Given the description of an element on the screen output the (x, y) to click on. 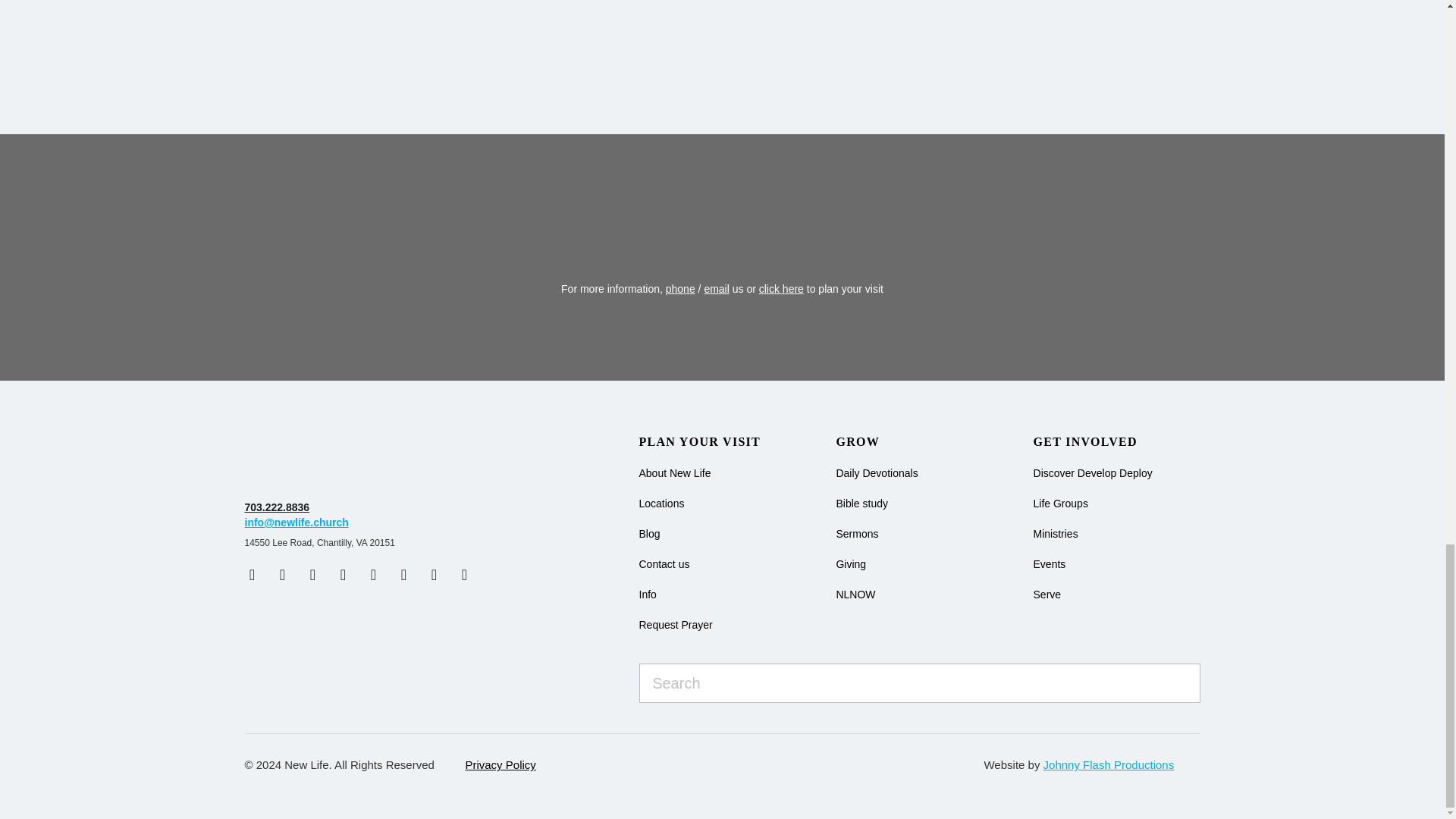
phone (680, 288)
email (716, 288)
image 13 (338, 459)
